Given the description of an element on the screen output the (x, y) to click on. 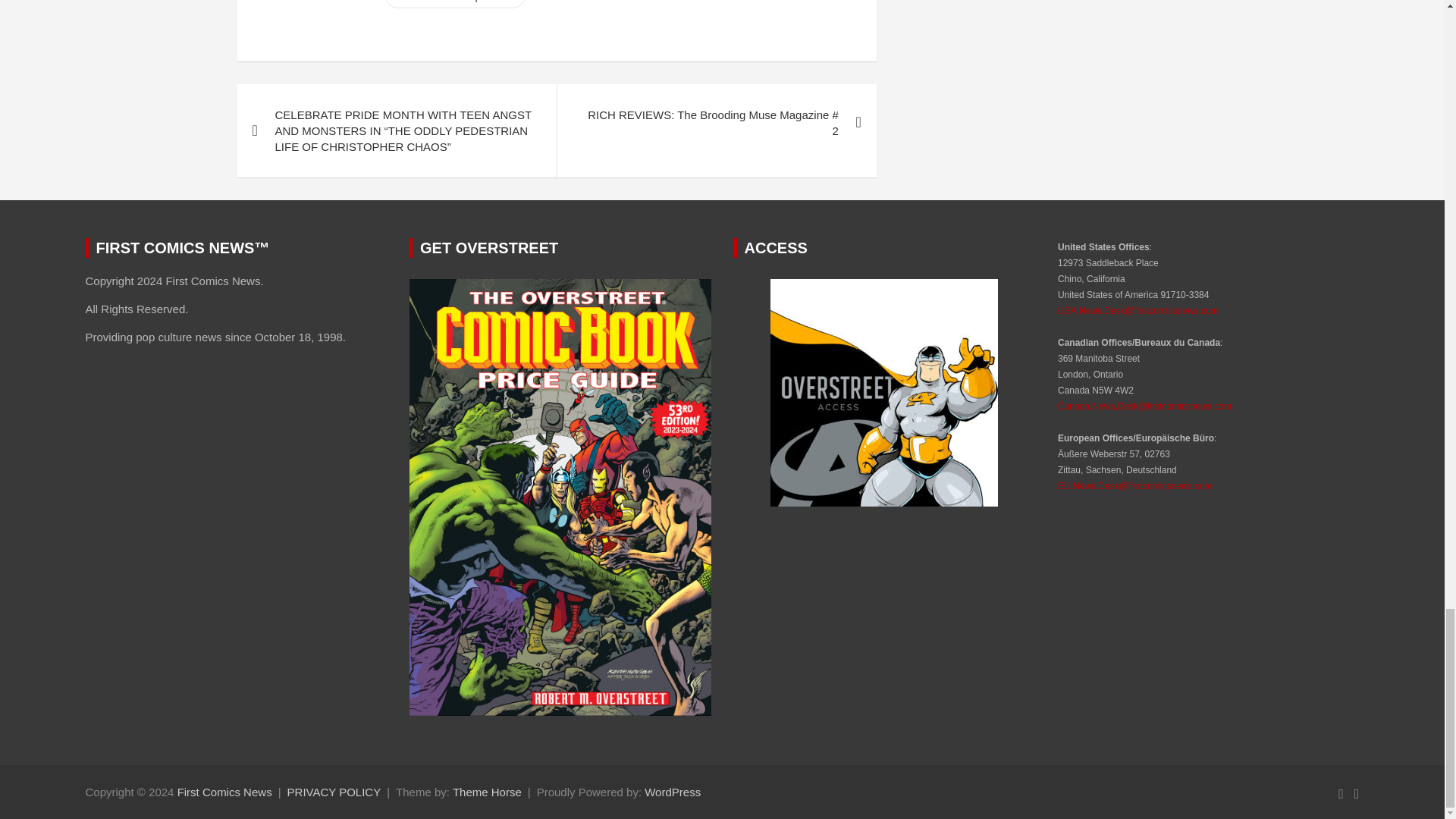
WordPress (672, 791)
First Comics News (224, 791)
Theme Horse (486, 791)
